Given the description of an element on the screen output the (x, y) to click on. 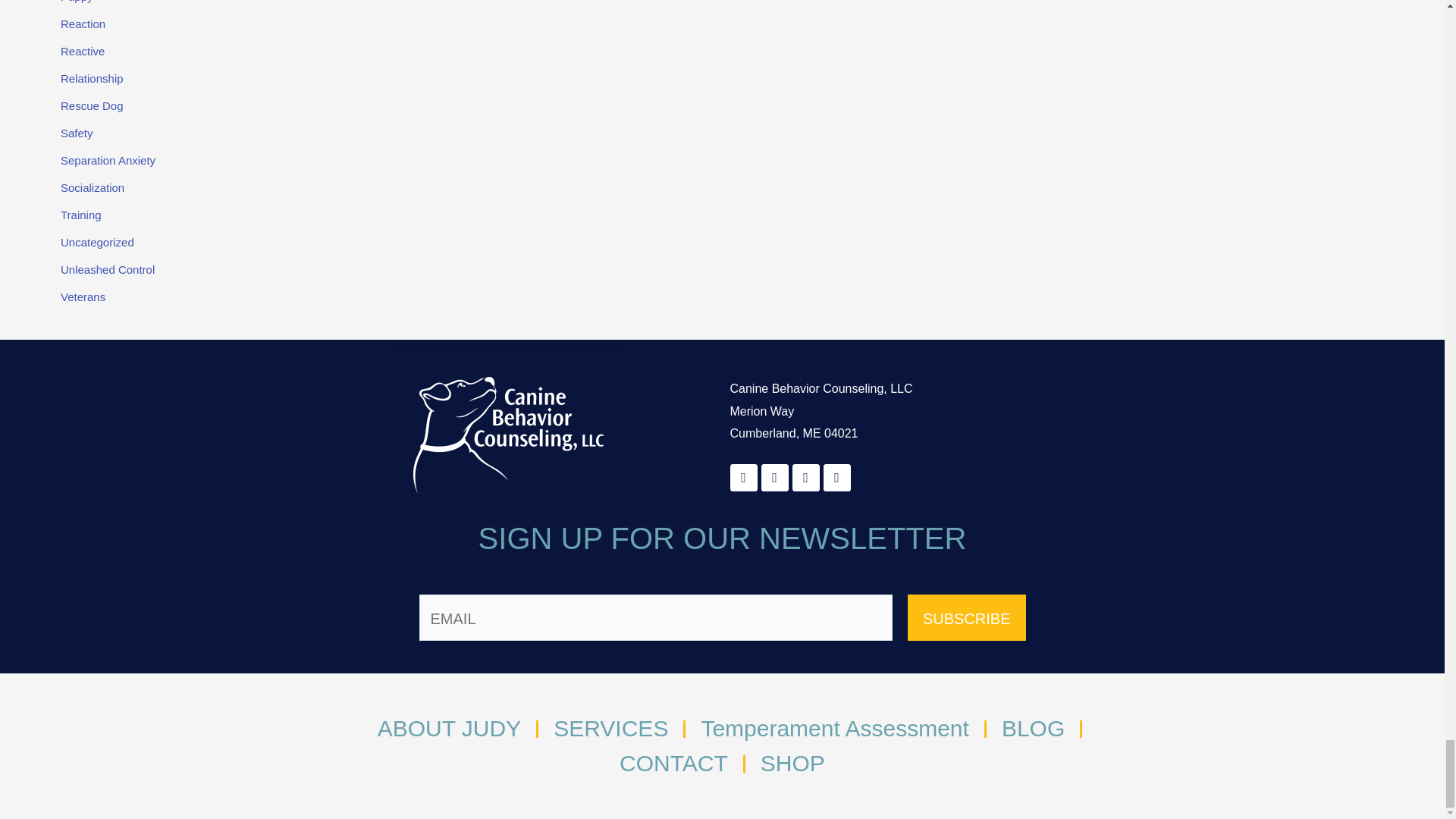
Subscribe (966, 617)
